Given the description of an element on the screen output the (x, y) to click on. 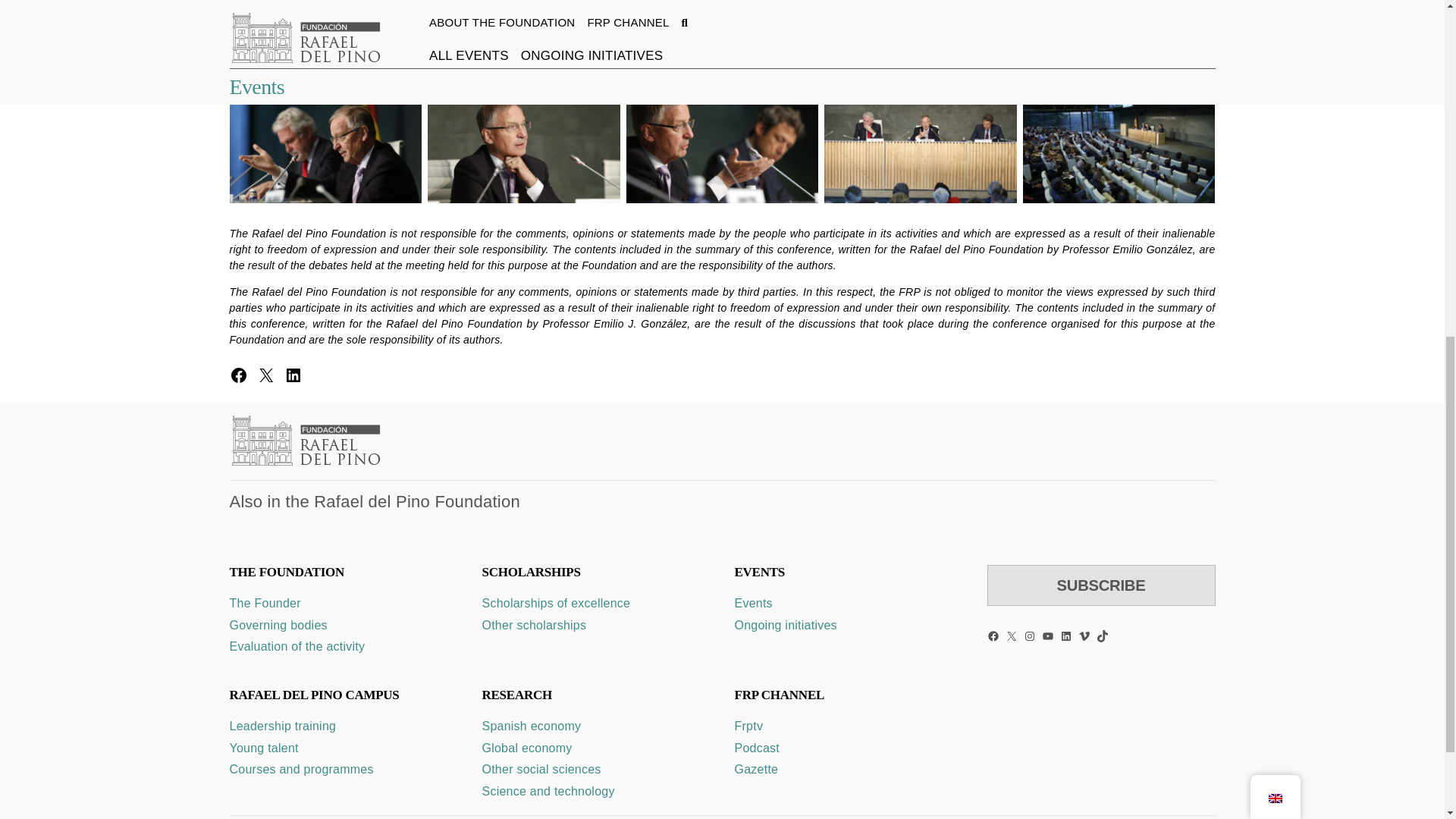
X (265, 375)
Spanish economy (530, 725)
Courses and programmes (300, 768)
Other scholarships (533, 625)
Ongoing initiatives (784, 625)
Leadership training (282, 725)
LinkedIn (1065, 635)
Facebook (237, 375)
LinkedIn (292, 375)
Events (752, 603)
Vimeo (1084, 635)
Facebook (992, 635)
Scholarships of excellence (555, 603)
X (1011, 635)
Governing bodies (277, 625)
